Given the description of an element on the screen output the (x, y) to click on. 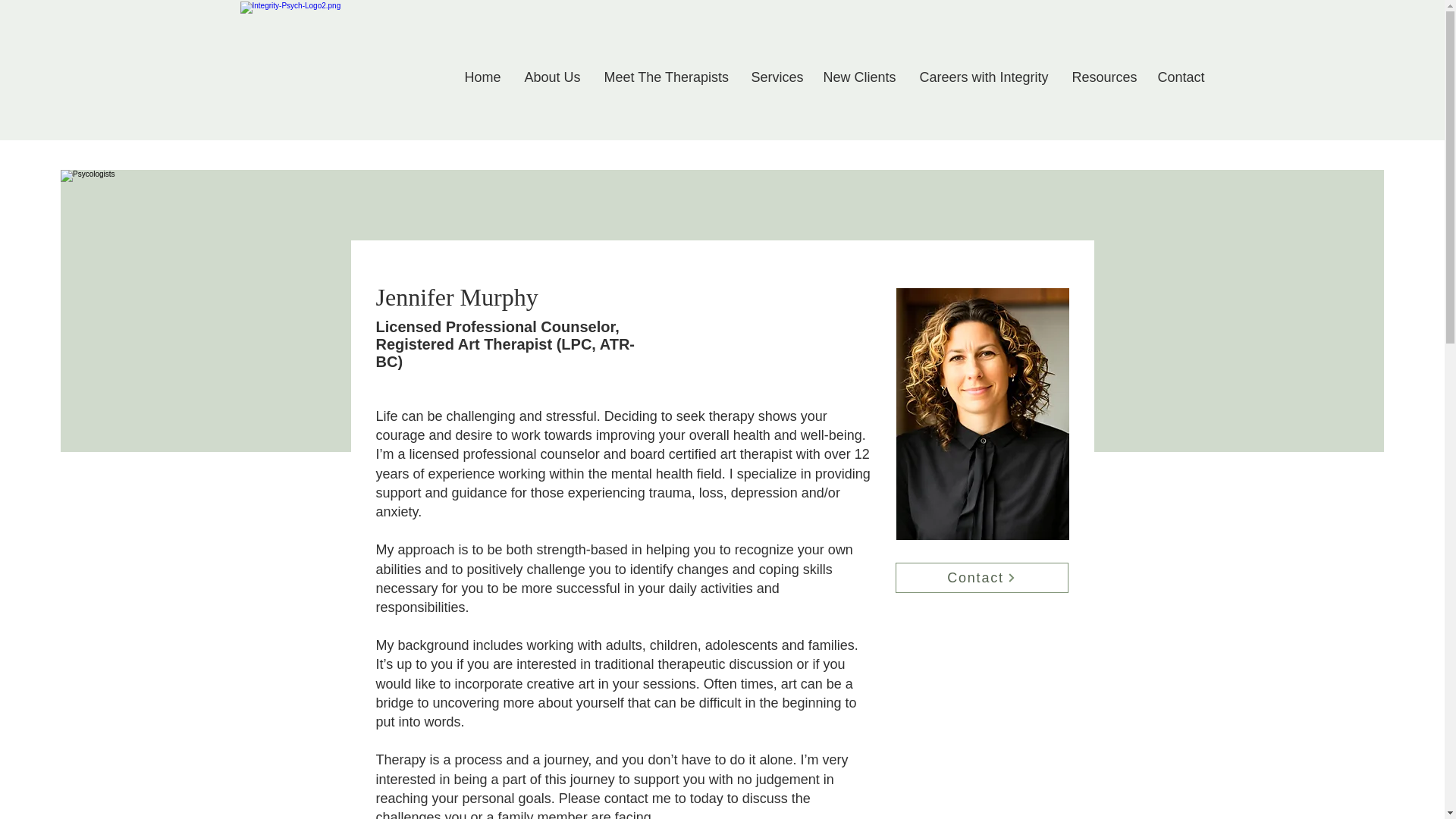
Contact (1182, 77)
New Clients (858, 77)
Careers with Integrity (984, 77)
Home (482, 77)
Contact (981, 577)
Resources (1102, 77)
Services (775, 77)
About Us (552, 77)
Meet The Therapists (665, 77)
